Given the description of an element on the screen output the (x, y) to click on. 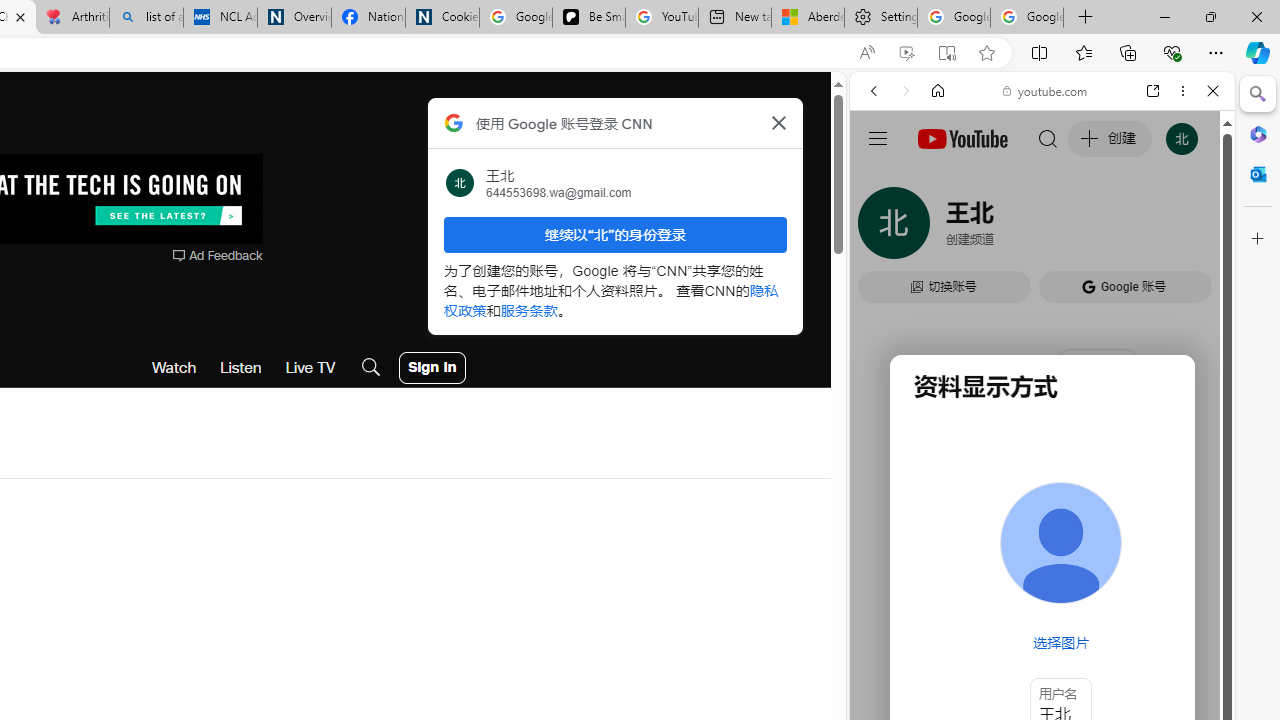
WEB   (882, 228)
Search Filter, VIDEOS (1006, 228)
Class: b_serphb (1190, 229)
